Given the description of an element on the screen output the (x, y) to click on. 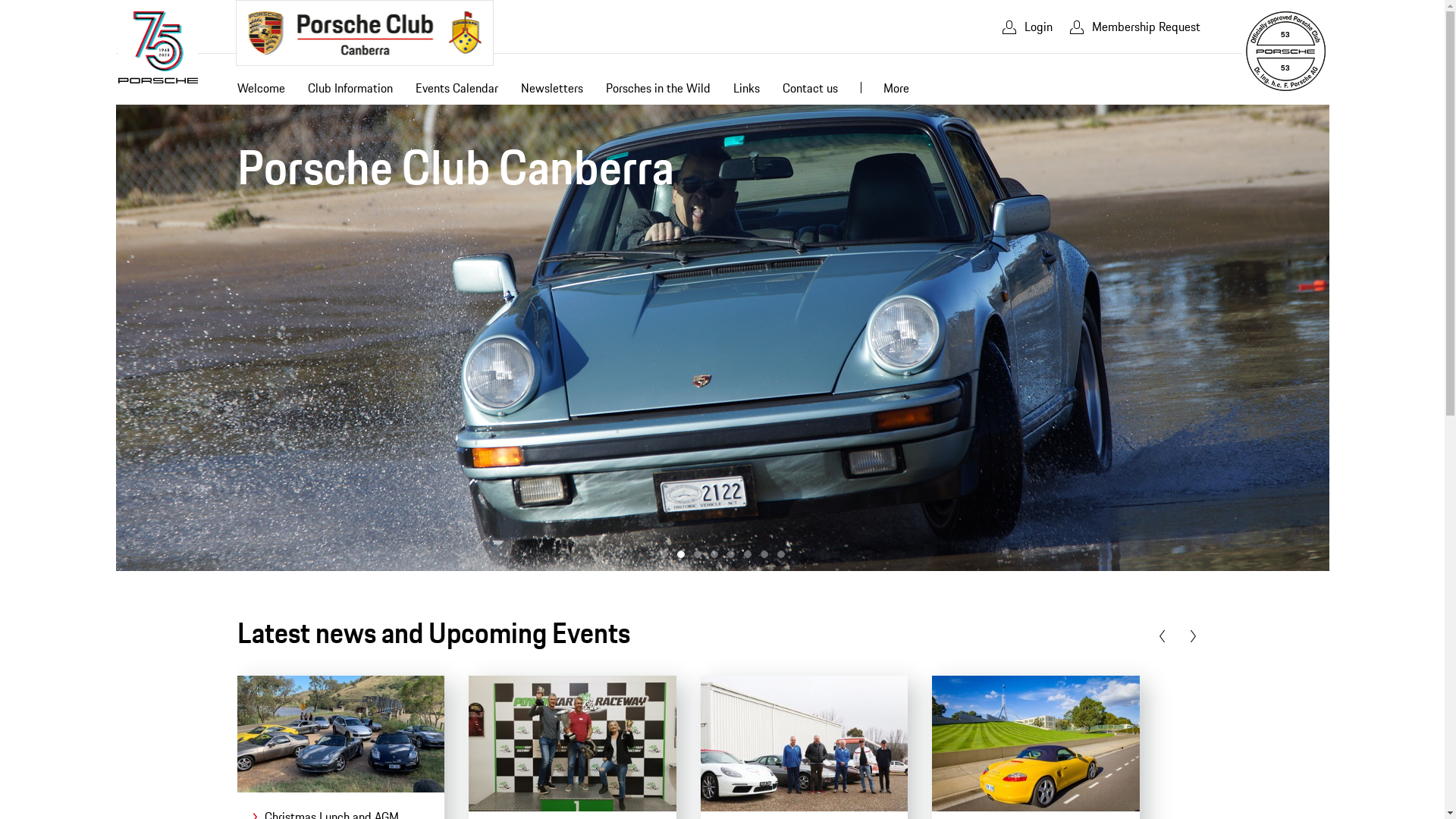
Membership Request Element type: text (1133, 26)
75 Years of Porsche Element type: hover (157, 47)
Porsche Club Canberra Element type: hover (363, 32)
Newsletters Element type: text (551, 90)
Events Calendar Element type: text (455, 90)
Officially approved Porsche Club 53 Element type: hover (1284, 51)
Porsches in the Wild Element type: text (657, 90)
Contact us Element type: text (809, 90)
More Element type: text (896, 90)
Login Element type: text (1025, 26)
Welcome Element type: text (260, 90)
Club Information Element type: text (349, 90)
Links Element type: text (746, 90)
